Given the description of an element on the screen output the (x, y) to click on. 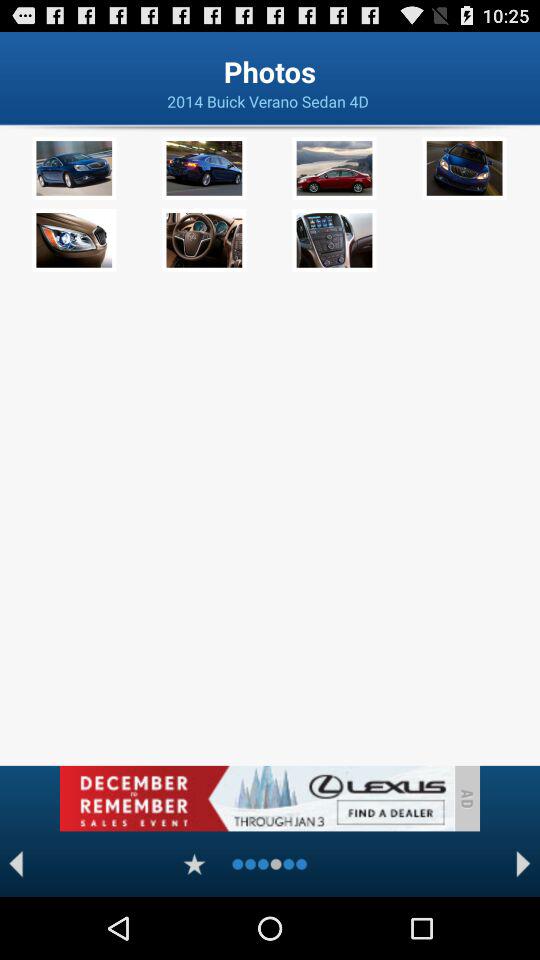
advertisement (256, 798)
